Given the description of an element on the screen output the (x, y) to click on. 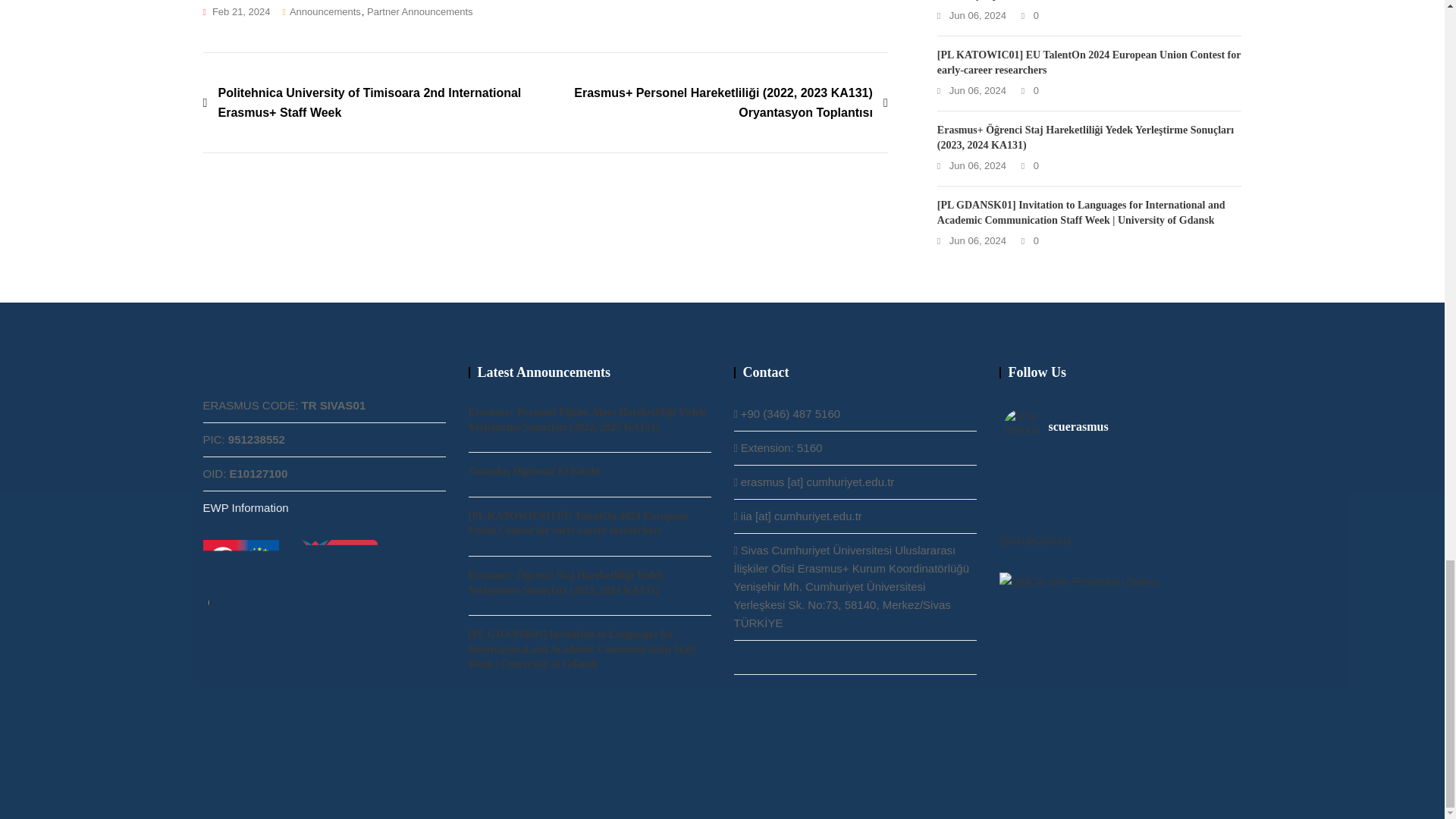
DMCA.com Protection Status (1078, 581)
